Given the description of an element on the screen output the (x, y) to click on. 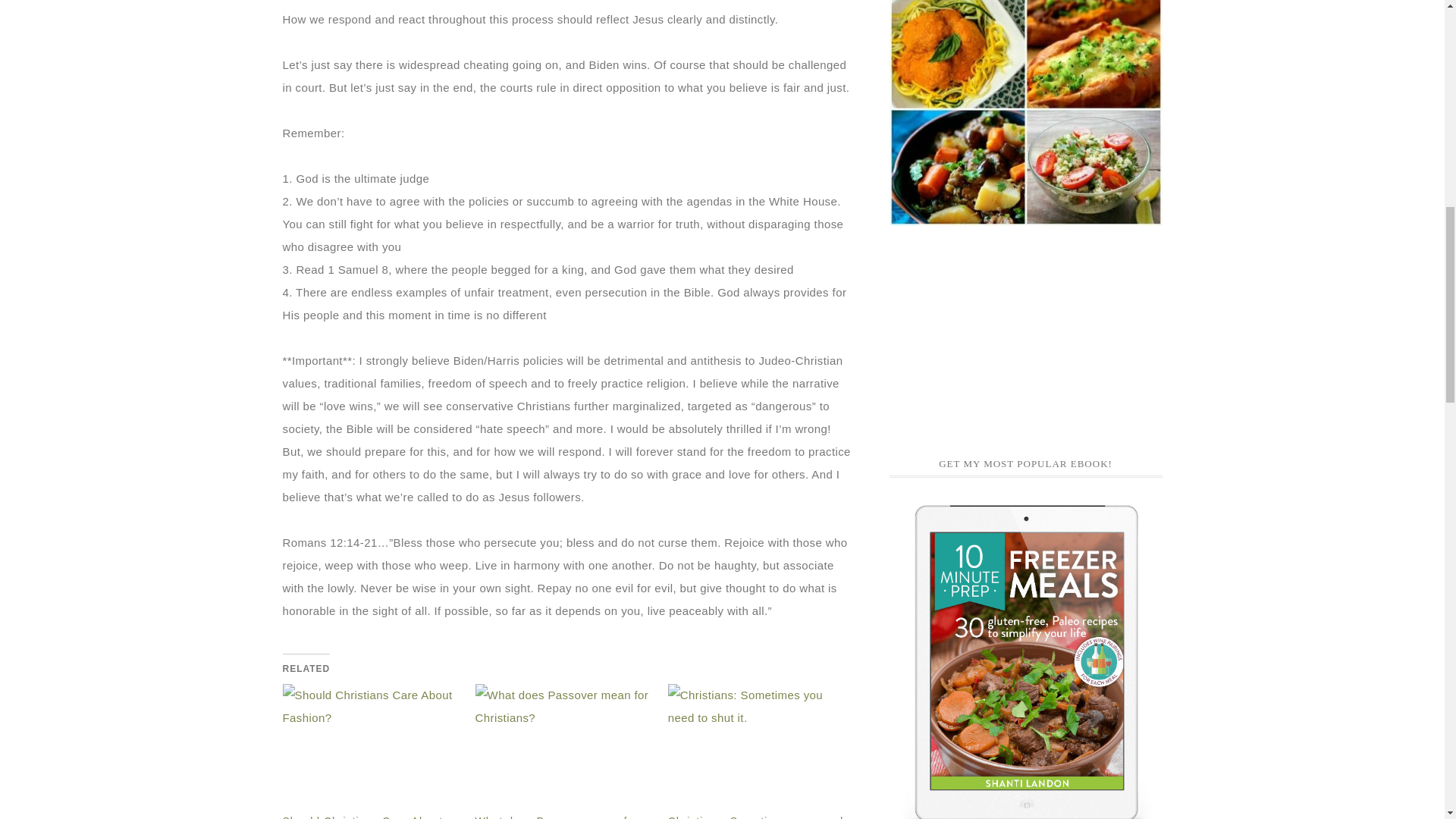
What does Passover mean for Christians? (557, 816)
Should Christians Care About Fashion? (362, 816)
Should Christians Care About Fashion? (371, 750)
Christians: Sometimes you need to shut it (756, 816)
What does Passover mean for Christians? (564, 750)
Should Christians Care About Fashion? (362, 816)
Christians: Sometimes you need to shut it (756, 750)
